Given the description of an element on the screen output the (x, y) to click on. 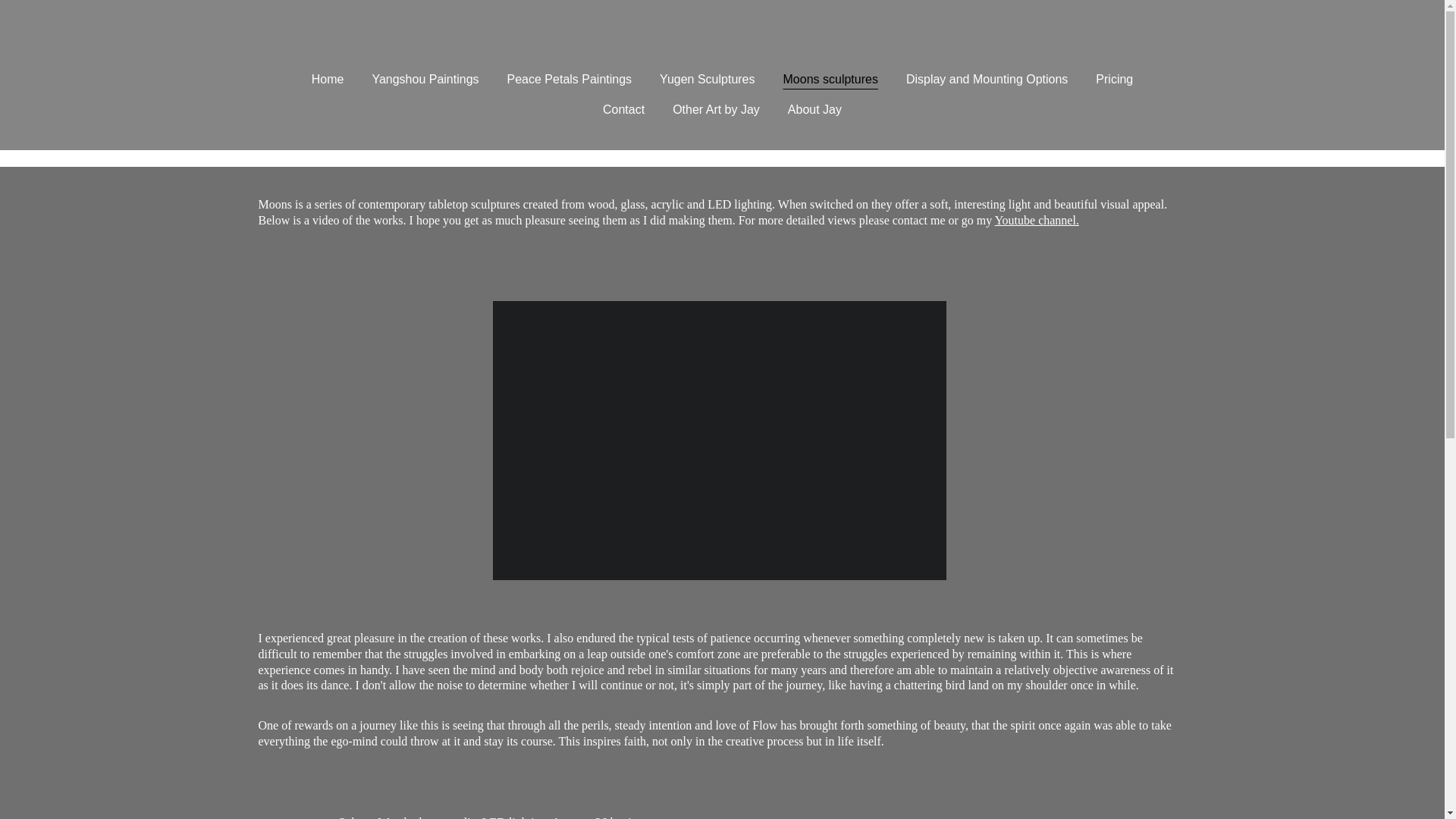
Contact (623, 109)
Home (327, 79)
Display and Mounting Options (986, 79)
Peace Petals Paintings (568, 79)
Youtube channel. (1036, 219)
Yangshou Paintings (425, 79)
Yugen Sculptures (706, 79)
Pricing (1114, 79)
Other Art by Jay (716, 109)
About Jay (814, 109)
Moons sculptures (830, 79)
